Given the description of an element on the screen output the (x, y) to click on. 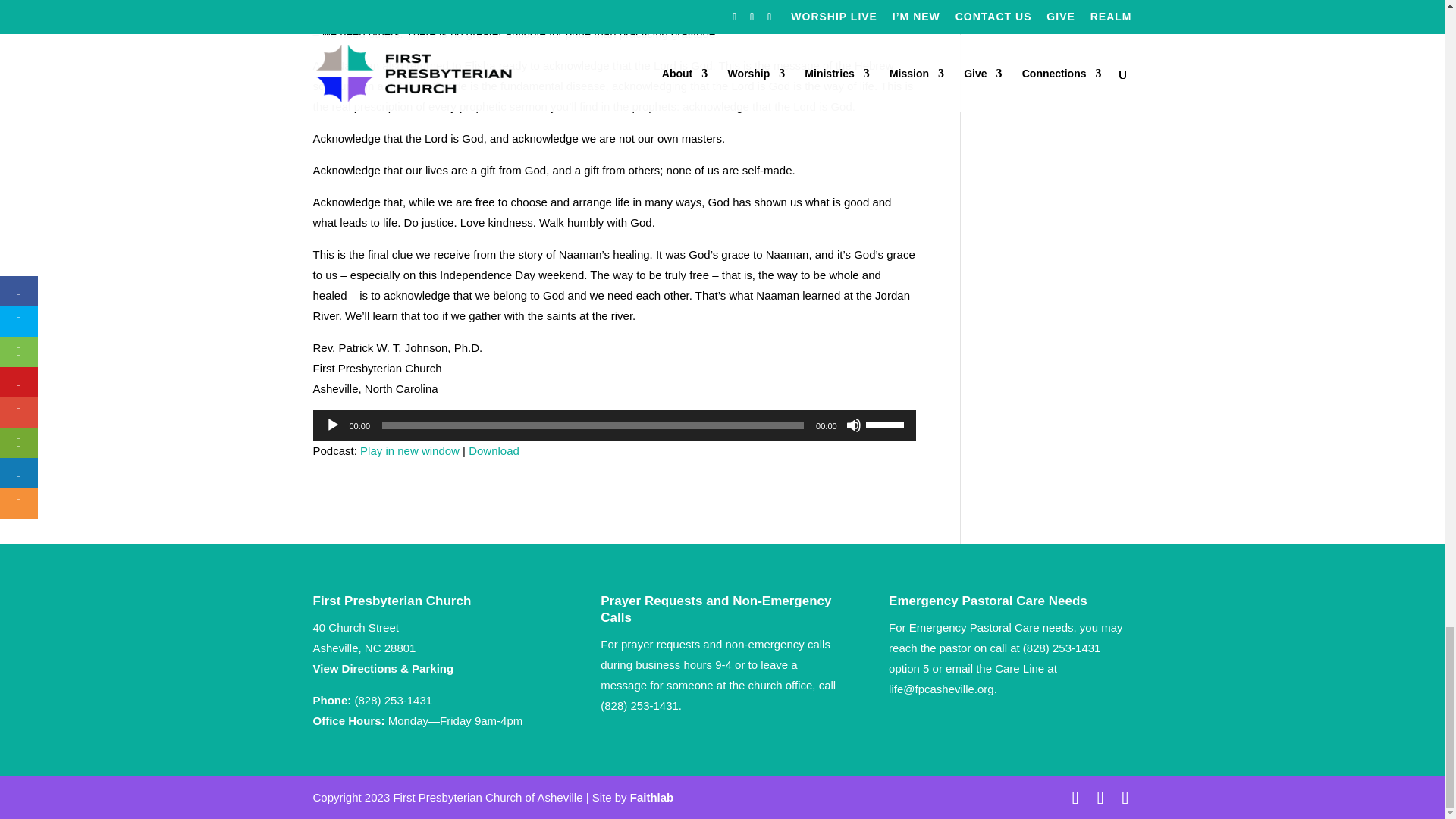
Play (331, 425)
Play in new window (409, 450)
Mute (853, 425)
Download (493, 450)
